Given the description of an element on the screen output the (x, y) to click on. 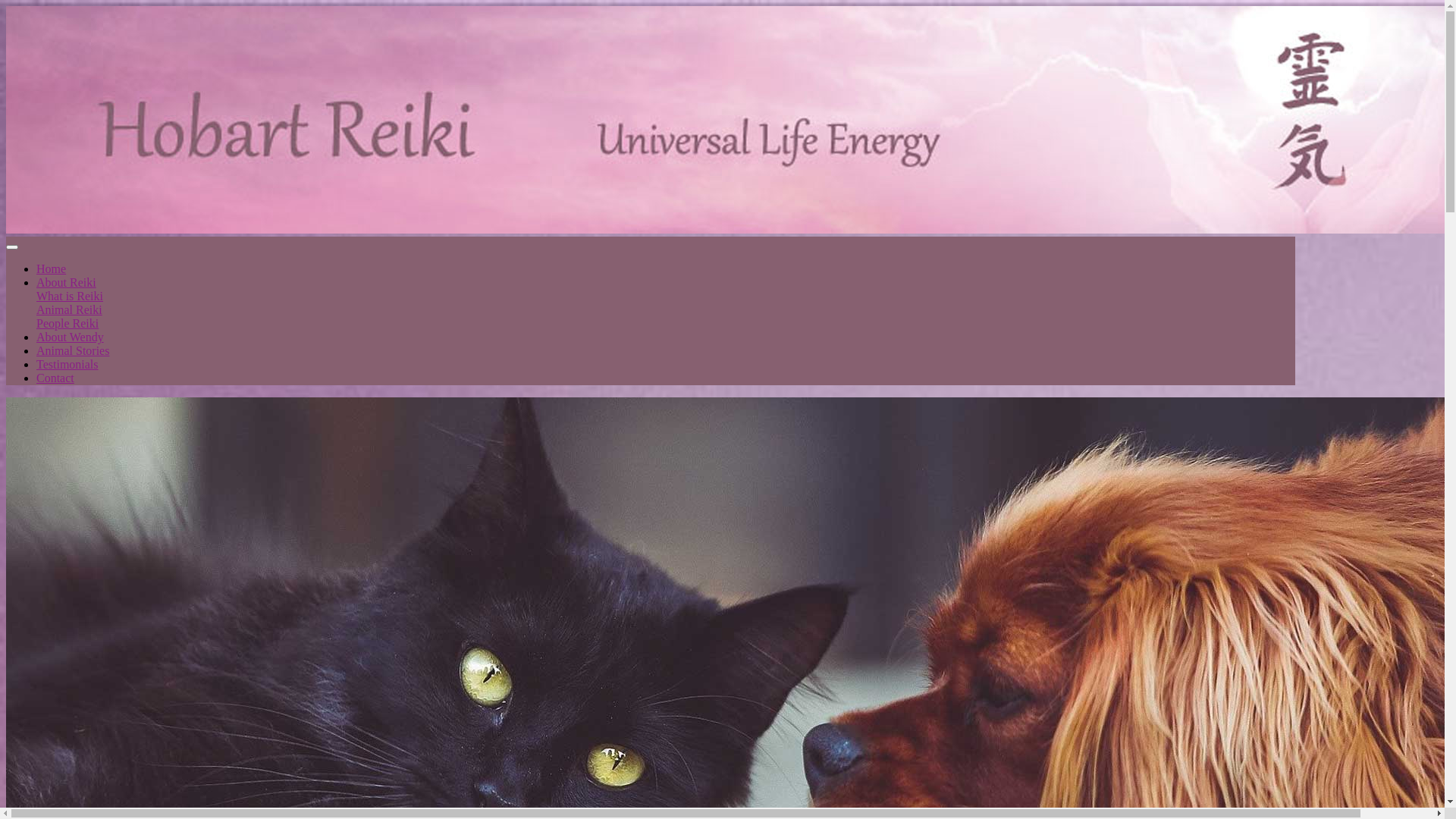
People Reiki Element type: text (67, 322)
Testimonials Element type: text (67, 363)
Contact Element type: text (55, 377)
Home Element type: text (50, 268)
About Reiki Element type: text (66, 282)
Animal Reiki Element type: text (69, 309)
What is Reiki Element type: text (69, 295)
About Wendy Element type: text (69, 336)
Animal Stories Element type: text (72, 350)
